Given the description of an element on the screen output the (x, y) to click on. 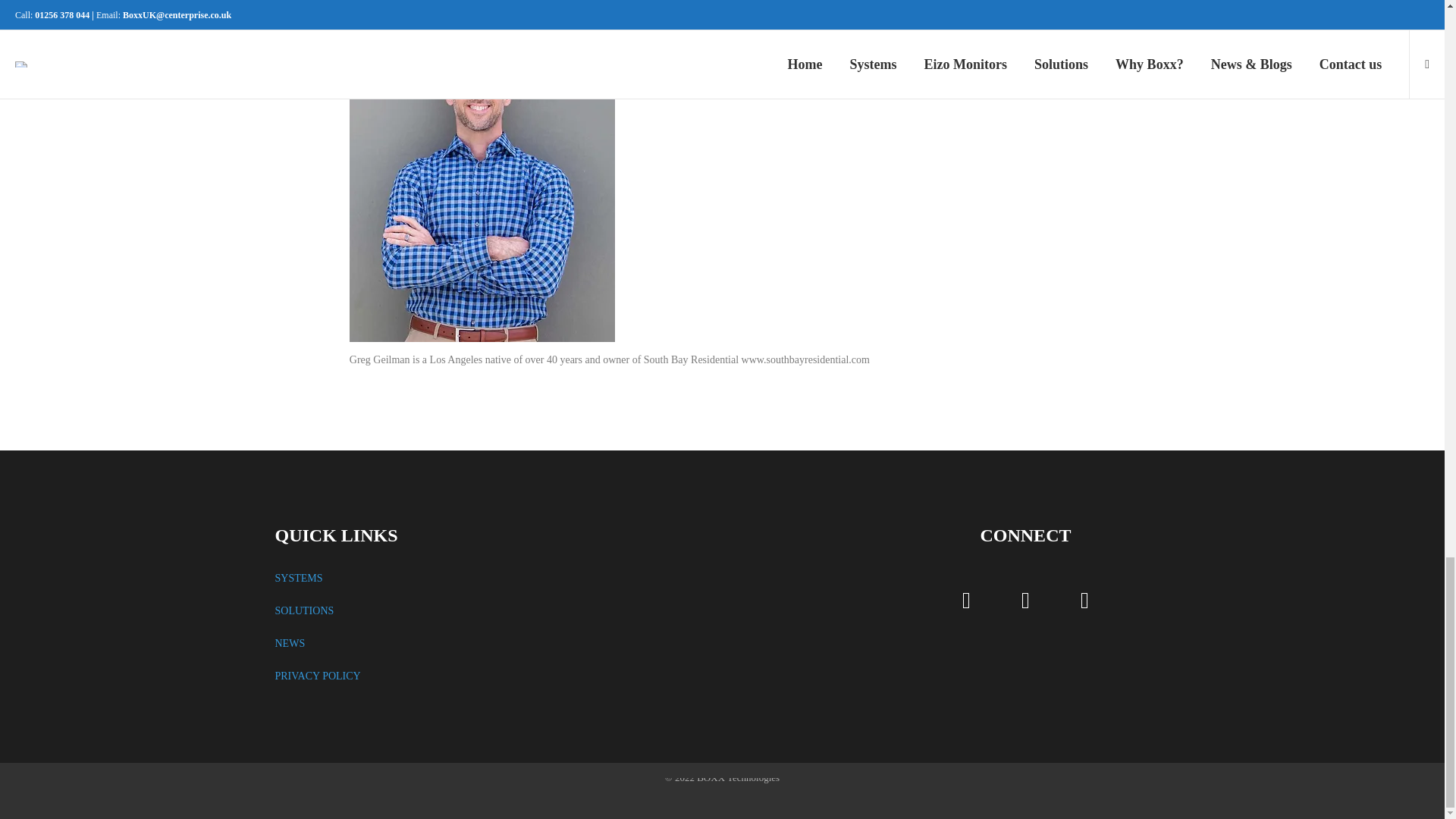
www.southbayresidential.com (805, 359)
SYSTEMS (298, 577)
SOLUTIONS (304, 610)
